Given the description of an element on the screen output the (x, y) to click on. 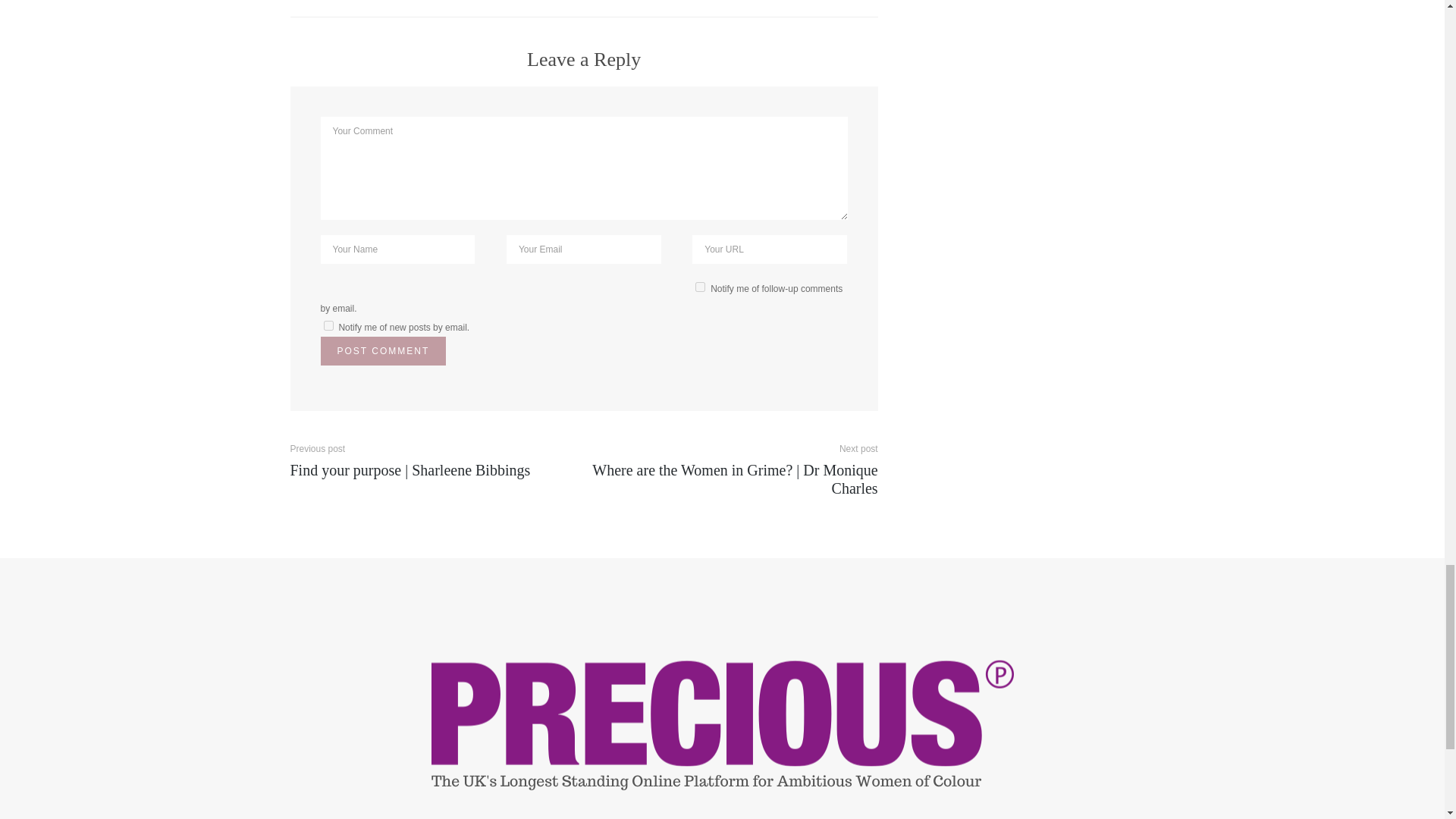
subscribe (699, 286)
Post Comment (382, 350)
subscribe (328, 325)
